Given the description of an element on the screen output the (x, y) to click on. 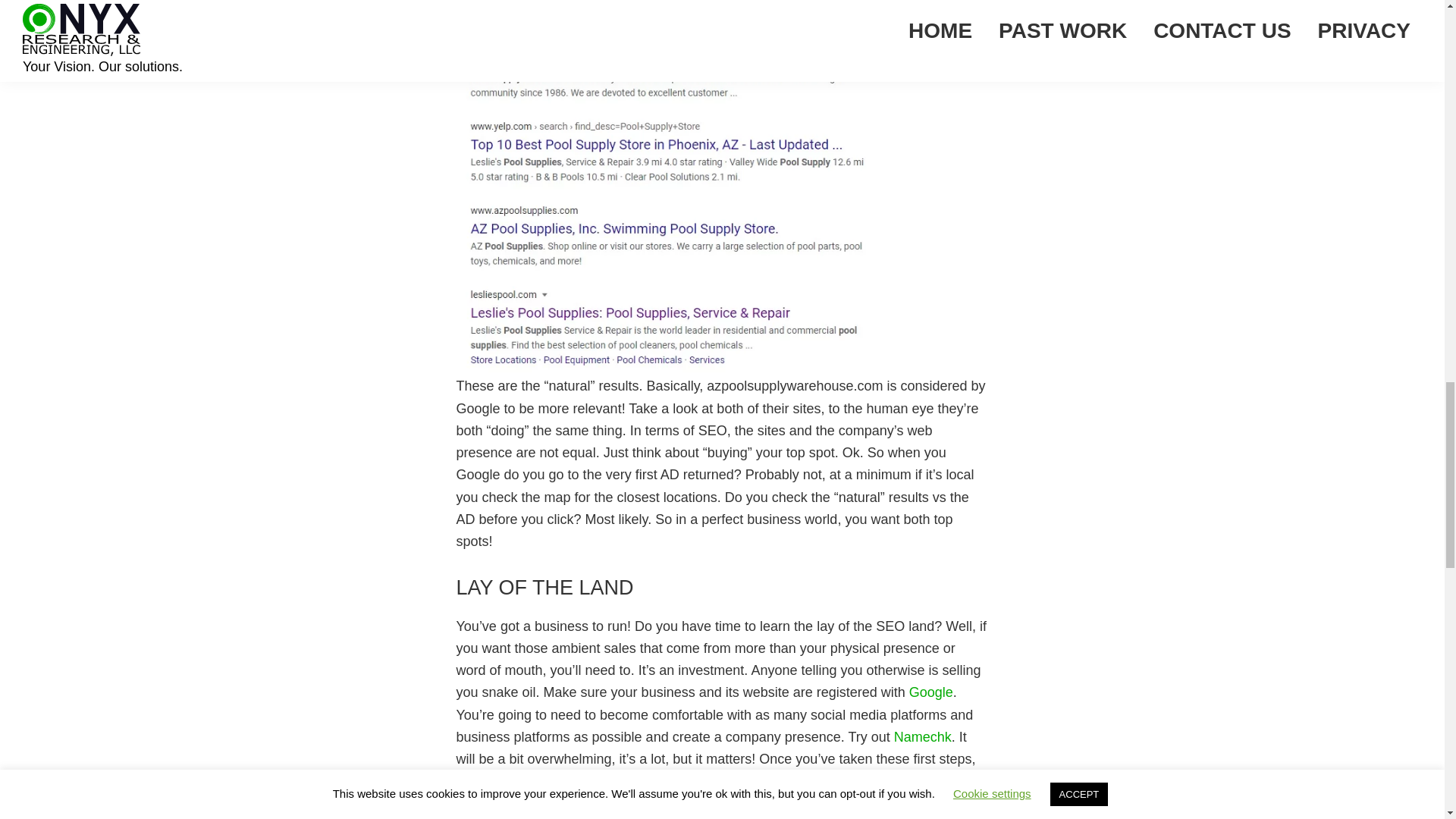
Namechk (922, 736)
Google (930, 692)
